Given the description of an element on the screen output the (x, y) to click on. 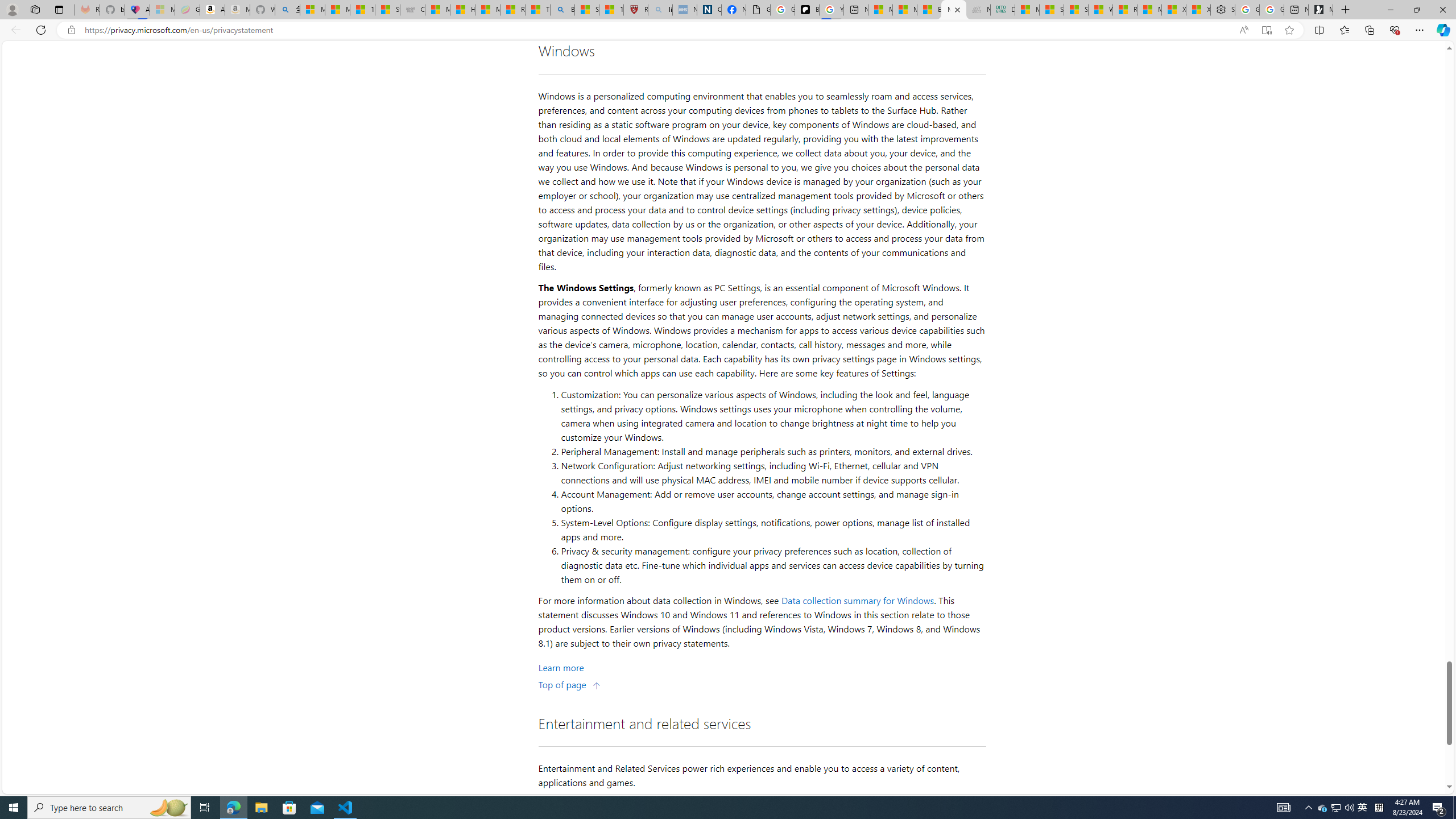
Top of page (569, 684)
Google Analytics Opt-out Browser Add-on Download Page (757, 9)
Robert H. Shmerling, MD - Harvard Health (635, 9)
12 Popular Science Lies that Must be Corrected (611, 9)
